Given the description of an element on the screen output the (x, y) to click on. 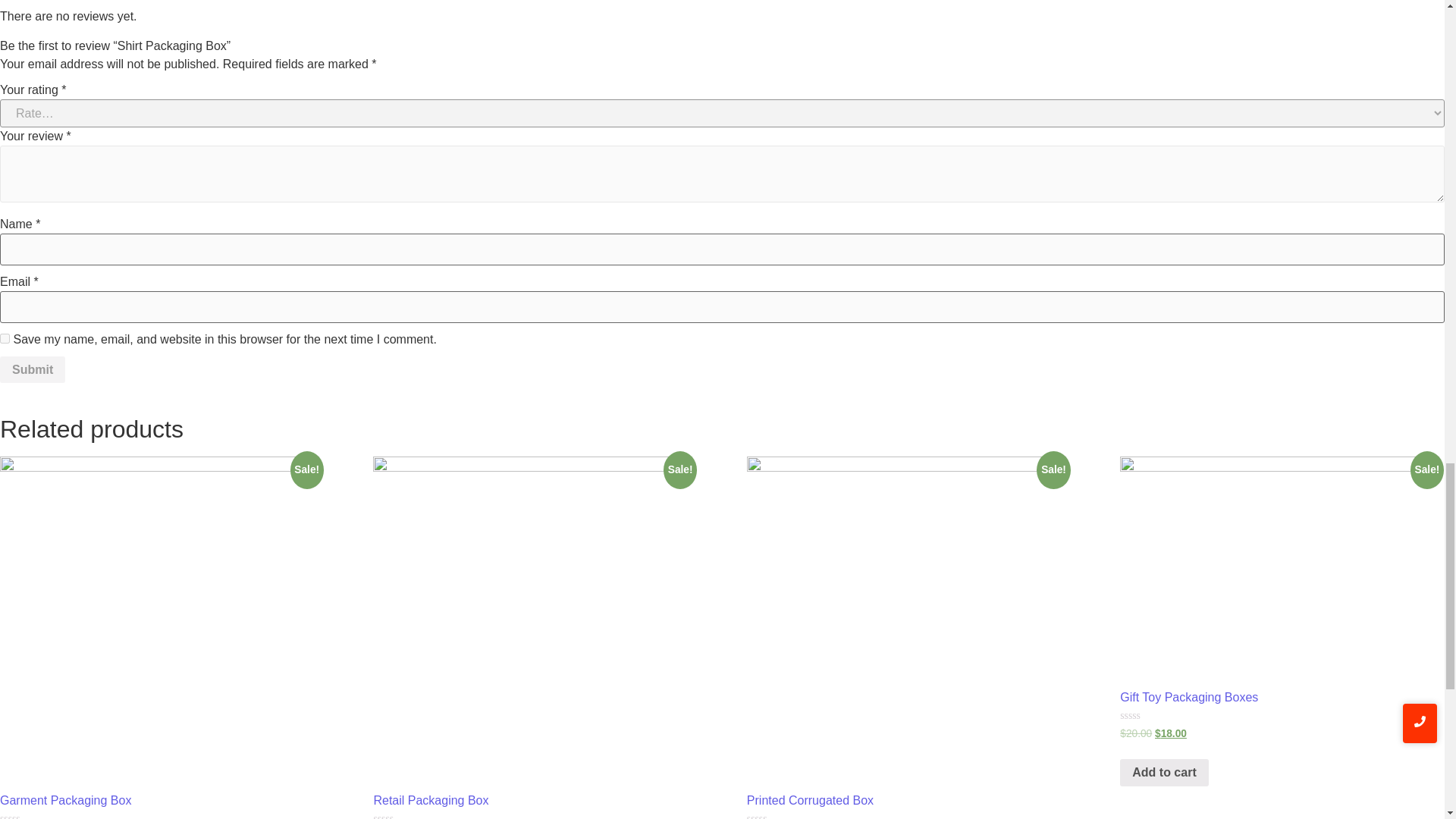
Submit (32, 370)
yes (5, 338)
Submit (32, 370)
